Given the description of an element on the screen output the (x, y) to click on. 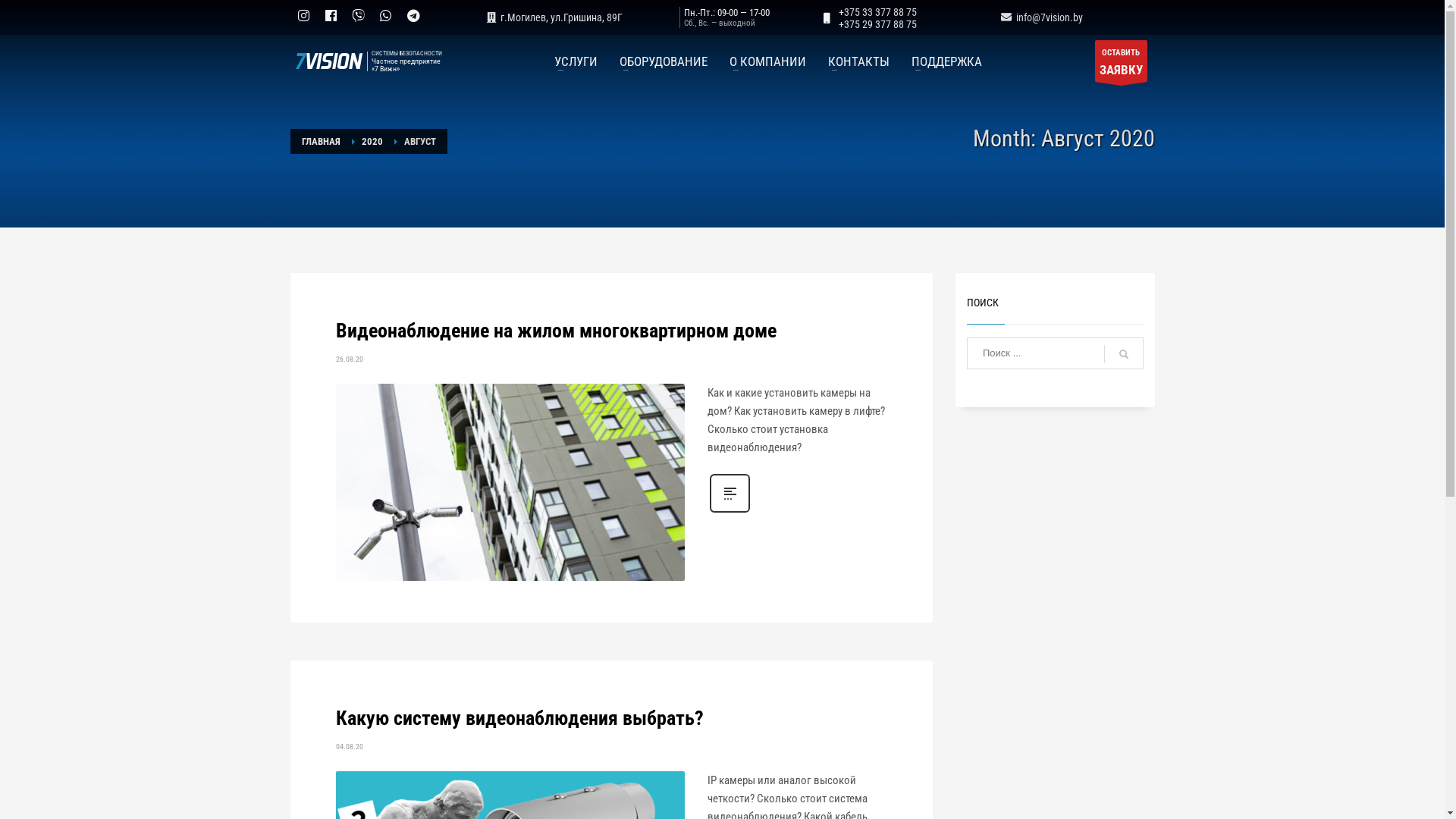
7VISION Element type: text (325, 61)
go Element type: text (1123, 354)
2020 Element type: text (371, 141)
Read more Element type: hover (728, 511)
+375 29 377 88 75 Element type: text (877, 24)
+375 33 377 88 75 Element type: text (877, 12)
info@7vision.by Element type: text (1039, 17)
